Given the description of an element on the screen output the (x, y) to click on. 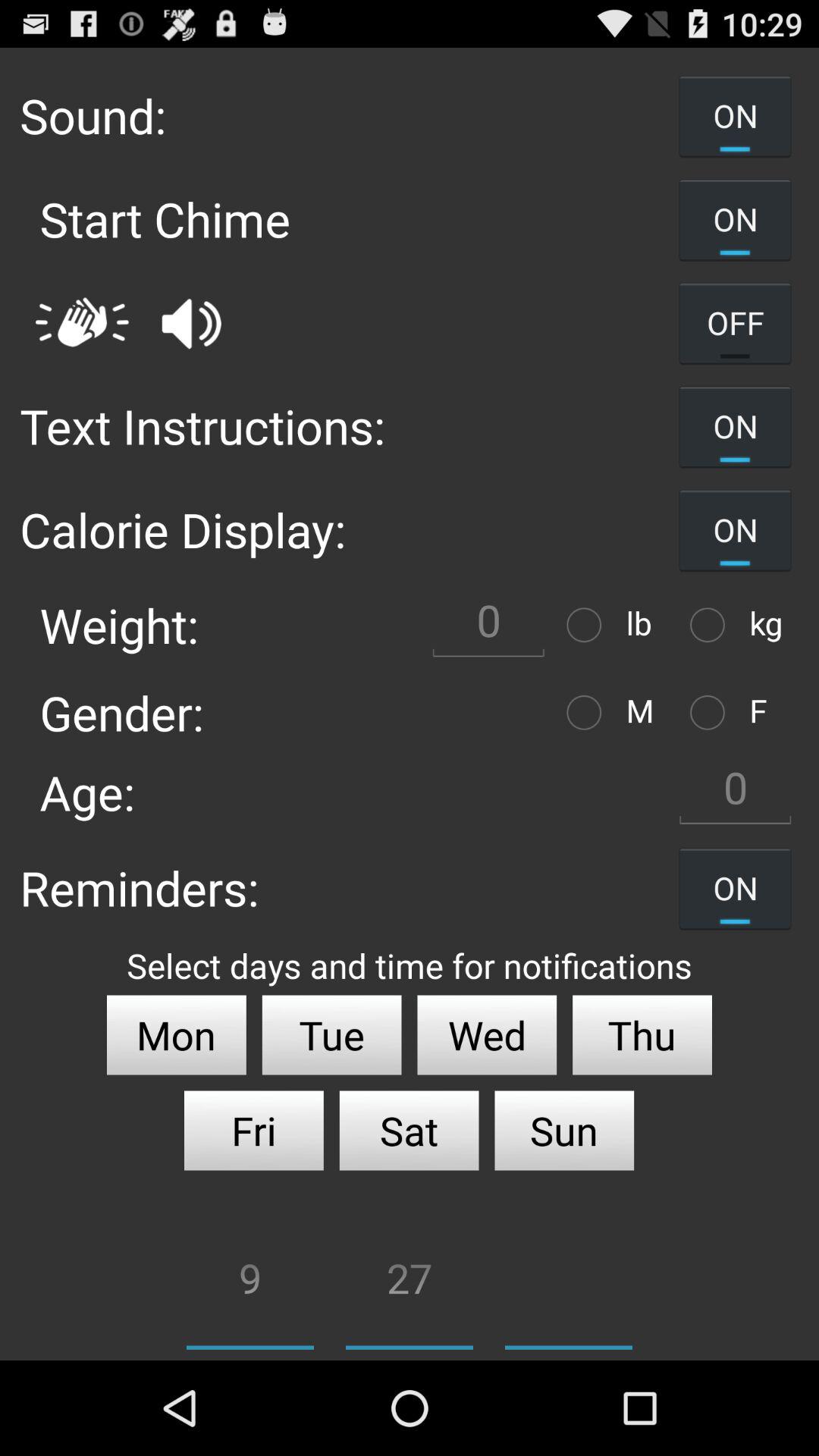
enter the weight (488, 624)
